Given the description of an element on the screen output the (x, y) to click on. 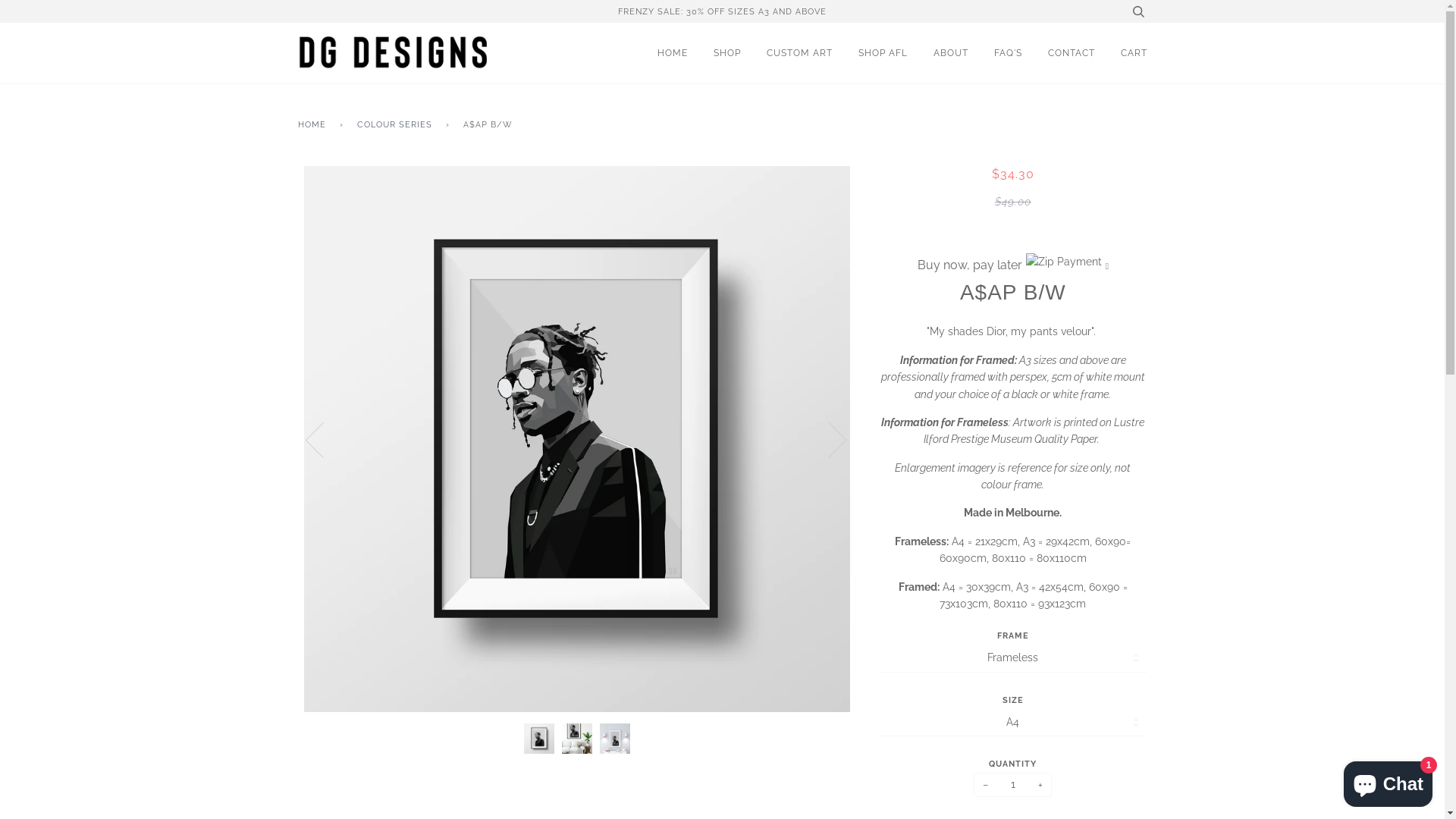
SHOP AFL Element type: text (882, 52)
SHOP Element type: text (726, 52)
COLOUR SERIES Element type: text (396, 124)
FAQ'S Element type: text (1007, 52)
CUSTOM ART Element type: text (798, 52)
HOME Element type: text (671, 52)
ABOUT Element type: text (949, 52)
Next Element type: text (828, 439)
HOME Element type: text (313, 124)
+ Element type: text (1040, 784)
CONTACT Element type: text (1071, 52)
Shopify online store chat Element type: hover (1388, 780)
Previous Element type: text (322, 439)
CART Element type: text (1133, 52)
